Given the description of an element on the screen output the (x, y) to click on. 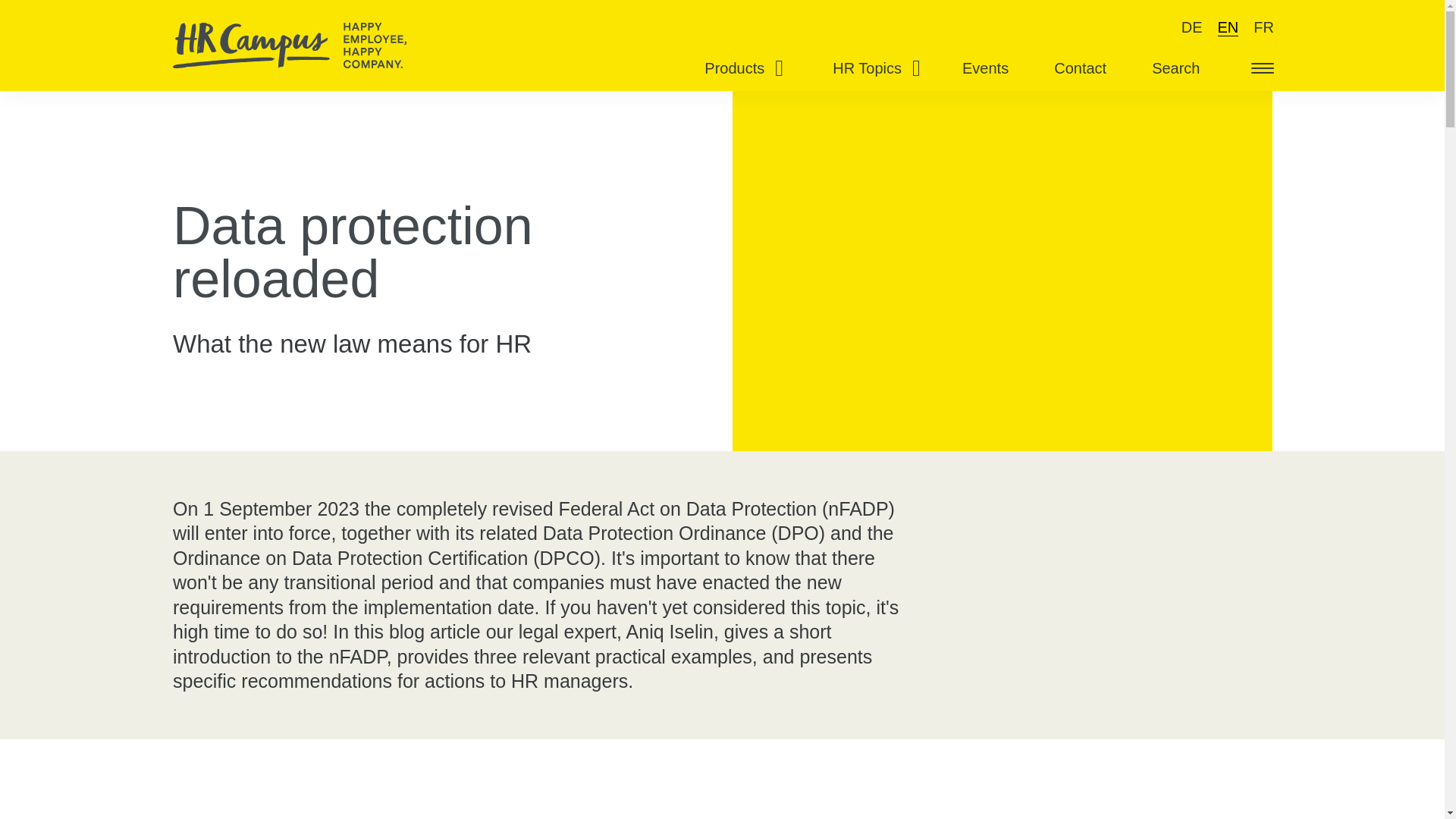
HR Topics (870, 67)
Products (737, 67)
